Given the description of an element on the screen output the (x, y) to click on. 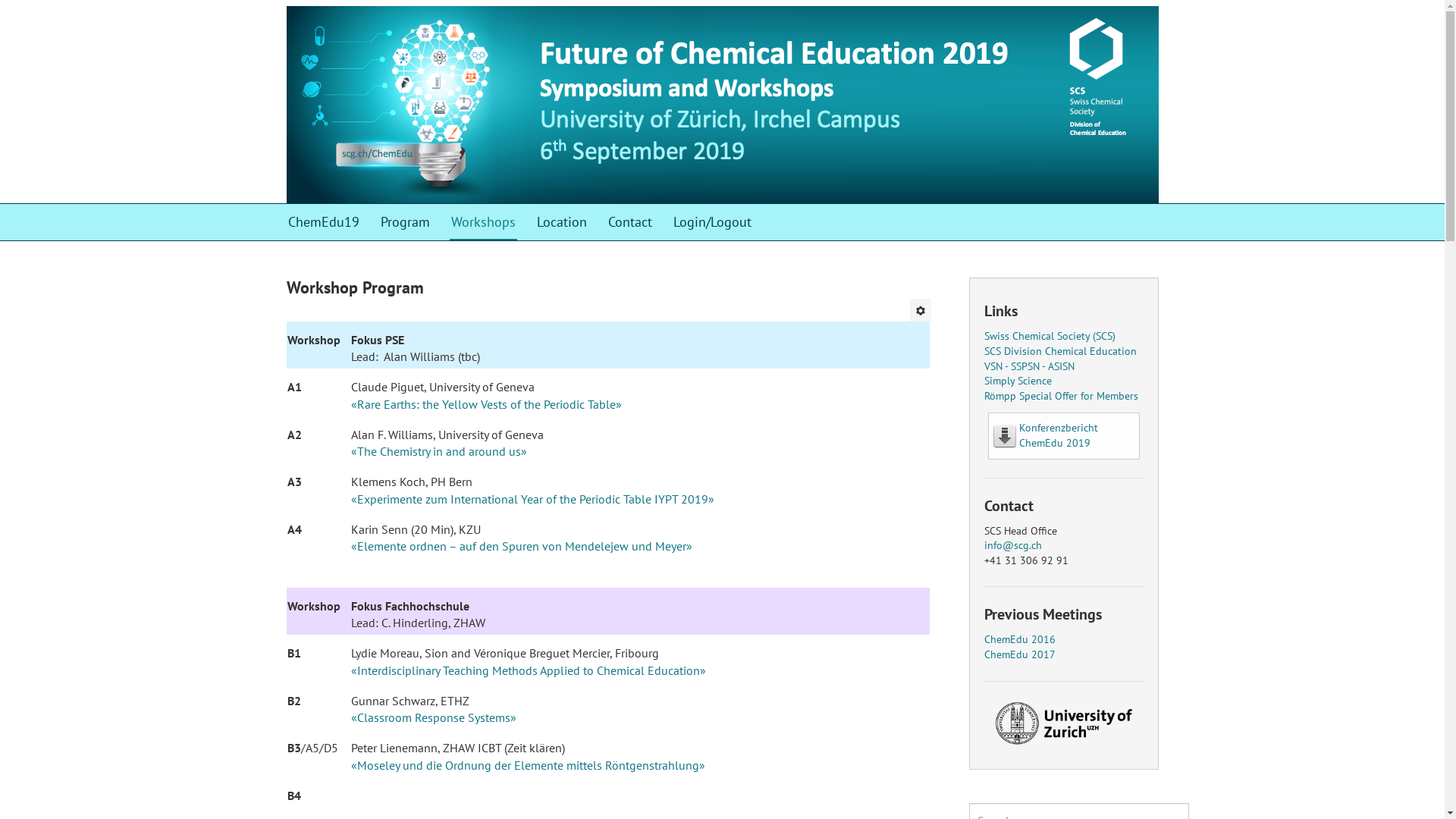
Program Element type: text (405, 221)
Location Element type: text (561, 221)
Workshops Element type: text (482, 221)
  Element type: text (1052, 380)
Simply Science Element type: text (1017, 380)
ChemEdu 2016 Element type: text (1019, 639)
Contact Element type: text (629, 221)
ChemEdu19 Element type: text (323, 221)
Login/Logout Element type: text (712, 221)
Swiss Chemical Society (SCS) Element type: text (1049, 335)
SCS Division Chemical Education Element type: text (1060, 350)
Konferenzbericht ChemEdu 2019 Element type: text (1058, 434)
VSN - SSPSN - ASISN Element type: text (1029, 366)
ChemEdu 2017 Element type: text (1019, 654)
Workshop Program Element type: text (354, 287)
